Given the description of an element on the screen output the (x, y) to click on. 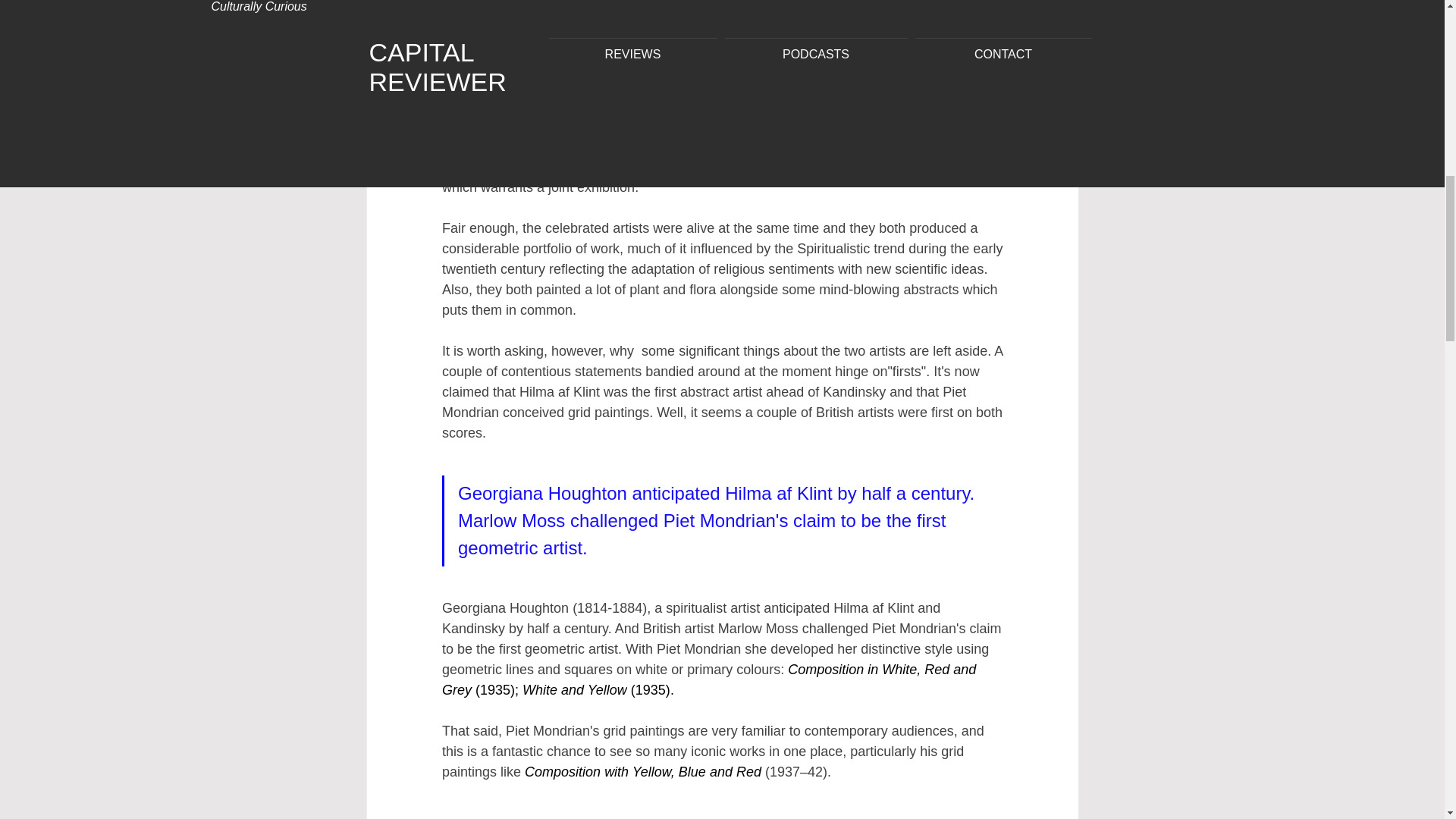
White and Yellow (574, 689)
Composition in White, Red and Grey  (709, 679)
Composition with Yellow, Blue and Red (642, 771)
